Given the description of an element on the screen output the (x, y) to click on. 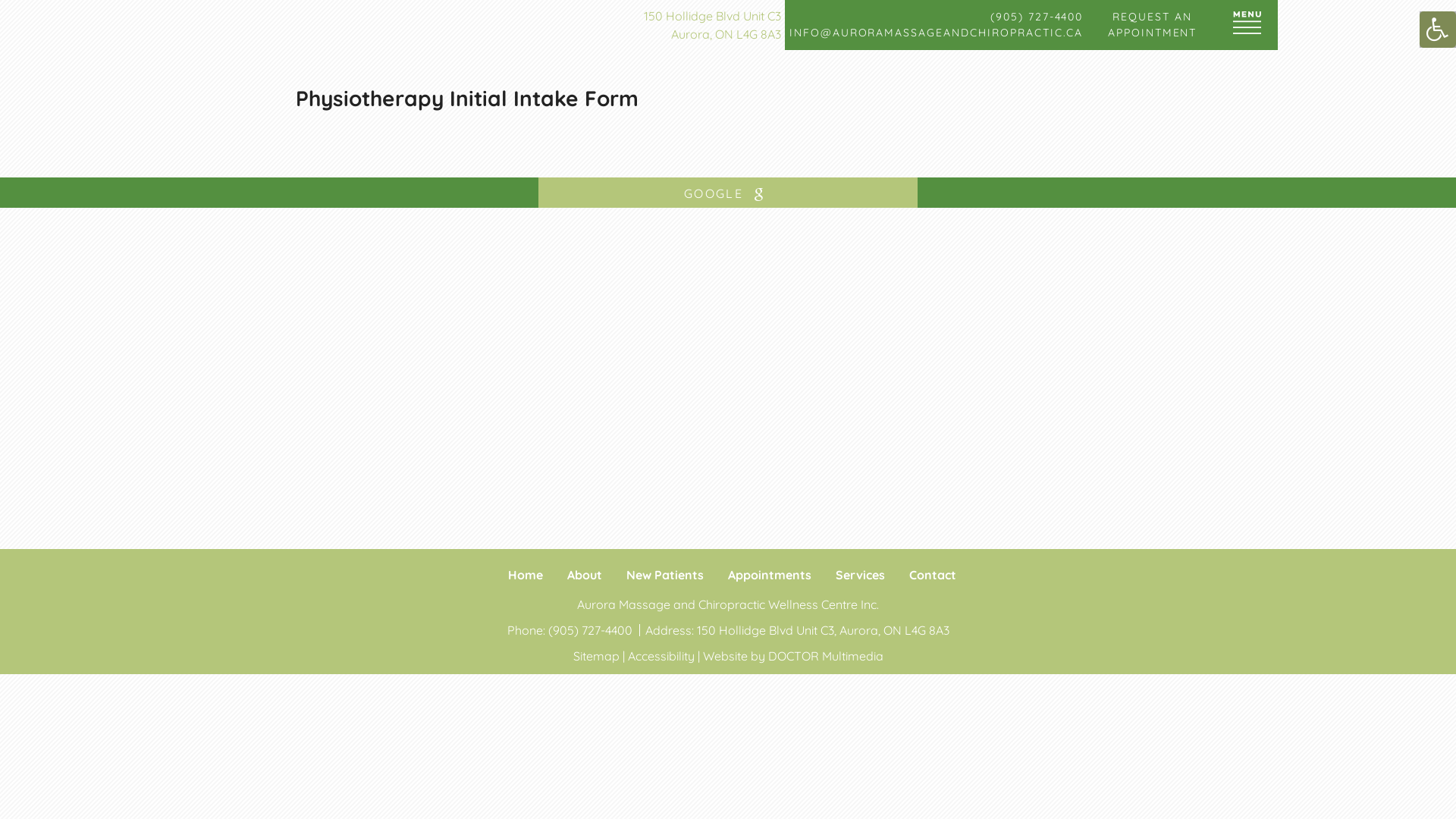
Website by DOCTOR Multimedia Element type: text (792, 655)
GOOGLE Element type: text (727, 192)
Appointments Element type: text (769, 574)
(905) 727-4400 Element type: text (590, 629)
Accessibility Element type: text (660, 655)
About Element type: text (584, 574)
(905) 727-4400 Element type: text (936, 17)
150 Hollidge Blvd Unit C3
Aurora, ON L4G 8A3 Element type: text (713, 24)
Services Element type: text (859, 574)
New Patients Element type: text (664, 574)
MENU Element type: text (1247, 25)
REQUEST AN APPOINTMENT Element type: text (1152, 25)
Contact Element type: text (931, 574)
150 Hollidge Blvd Unit C3, Aurora, ON L4G 8A3 Element type: text (822, 629)
INFO@AURORAMASSAGEANDCHIROPRACTIC.CA Element type: text (936, 32)
Sitemap Element type: text (596, 655)
Home Element type: text (525, 574)
